Given the description of an element on the screen output the (x, y) to click on. 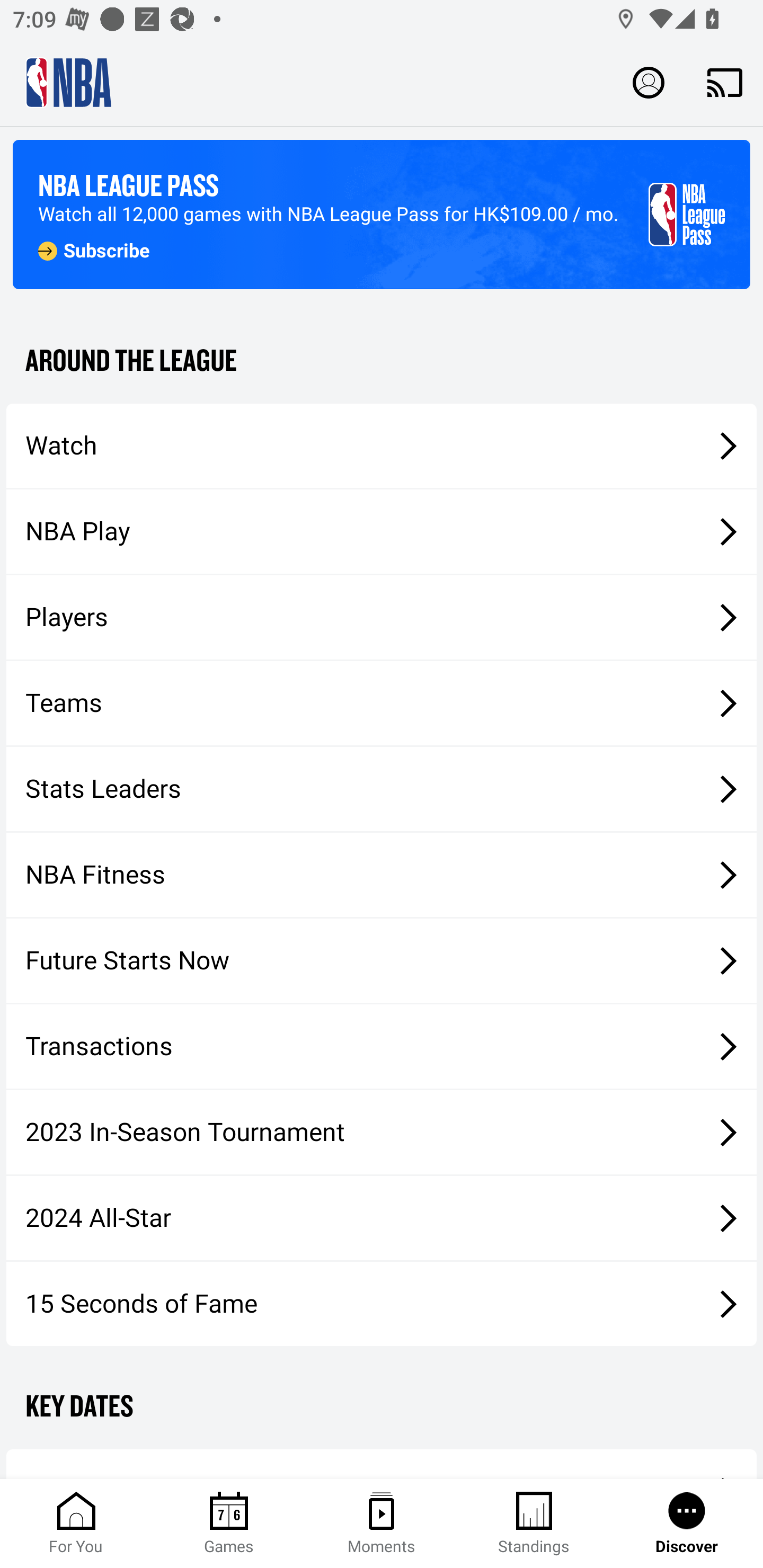
Cast. Disconnected (724, 82)
Profile (648, 81)
Watch (381, 444)
NBA Play (381, 531)
Players (381, 617)
Teams (381, 702)
Stats Leaders (381, 788)
NBA Fitness (381, 874)
Future Starts Now (381, 960)
Transactions (381, 1046)
2023 In-Season Tournament (381, 1131)
2024 All-Star (381, 1218)
15 Seconds of Fame (381, 1303)
For You (76, 1523)
Games (228, 1523)
Moments (381, 1523)
Standings (533, 1523)
